Given the description of an element on the screen output the (x, y) to click on. 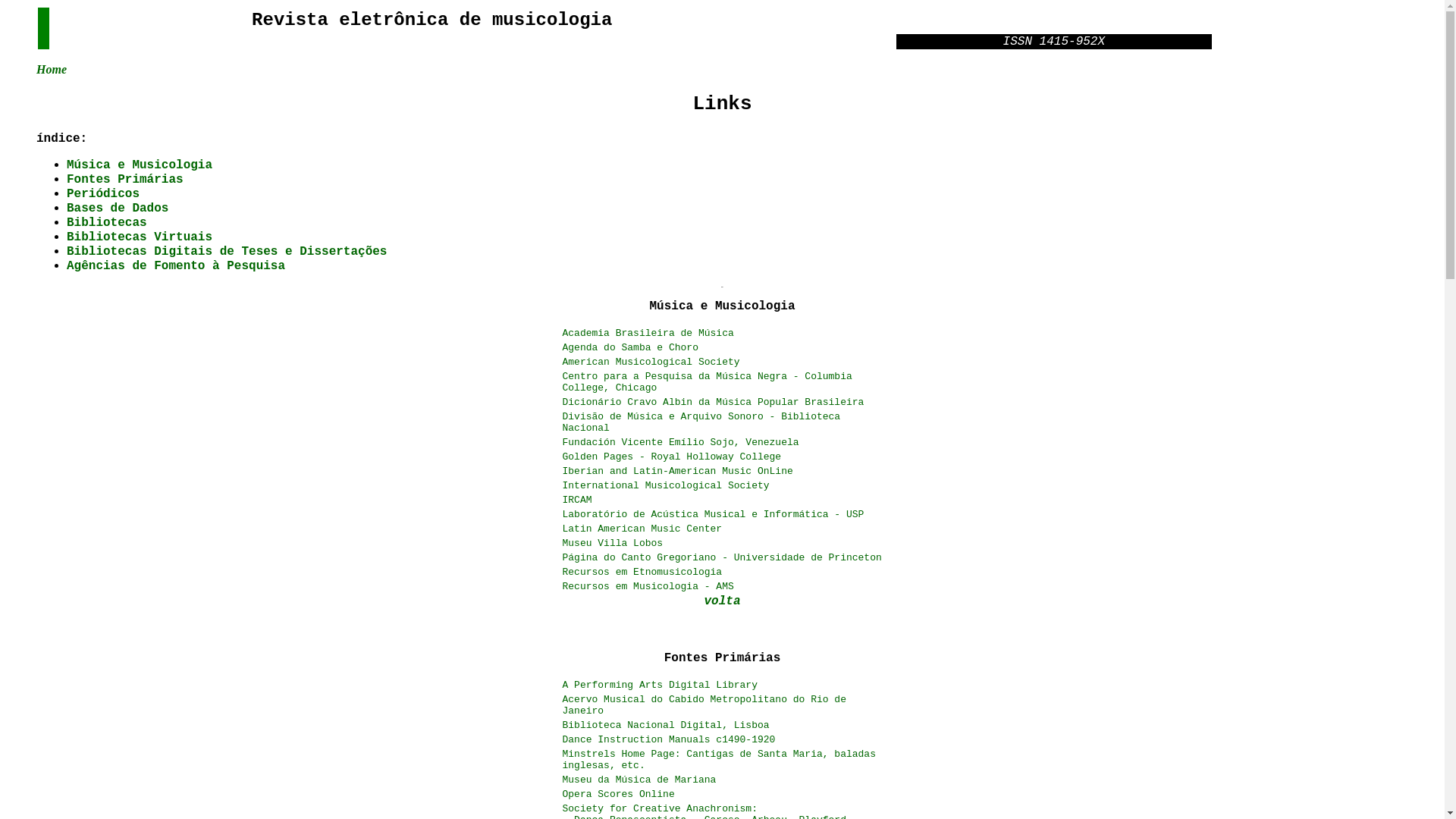
Bibliotecas Element type: text (106, 221)
IRCAM Element type: text (577, 498)
Golden Pages - Royal Holloway College Element type: text (671, 454)
Dance Instruction Manuals c1490-1920 Element type: text (668, 739)
Recursos em Etnomusicologia Element type: text (642, 570)
Recursos em Musicologia - AMS Element type: text (648, 584)
Biblioteca Nacional Digital, Lisboa Element type: text (665, 725)
Bases de Dados Element type: text (117, 206)
Latin American Music Center Element type: text (642, 526)
Bibliotecas Virtuais Element type: text (139, 235)
Opera Scores Online Element type: text (618, 794)
International Musicological Society Element type: text (665, 483)
A Performing Arts Digital Library Element type: text (659, 684)
Museu Villa Lobos Element type: text (612, 541)
Acervo Musical do Cabido Metropolitano do Rio de Janeiro Element type: text (704, 704)
volta Element type: text (721, 599)
Minstrels Home Page: Element type: text (624, 752)
Cantigas de Santa Maria, baladas inglesas, etc. Element type: text (718, 759)
Home Element type: text (51, 68)
Agenda do Samba e Choro Element type: text (630, 345)
Society for Creative Anachronism: Element type: text (659, 808)
American Musicological Society Element type: text (651, 360)
Iberian and Latin-American Music OnLine Element type: text (677, 469)
